Given the description of an element on the screen output the (x, y) to click on. 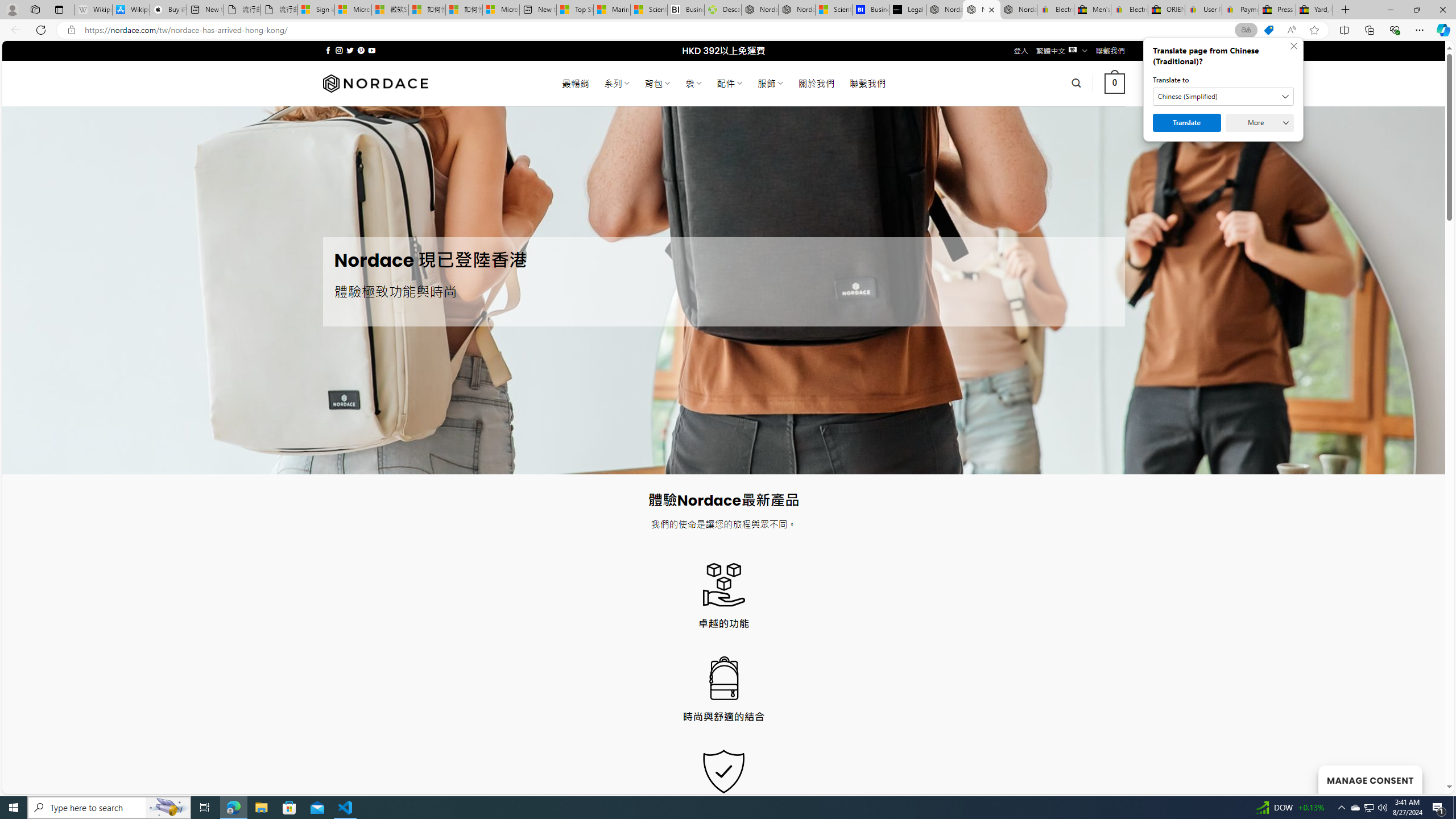
Follow on Instagram (338, 50)
